Given the description of an element on the screen output the (x, y) to click on. 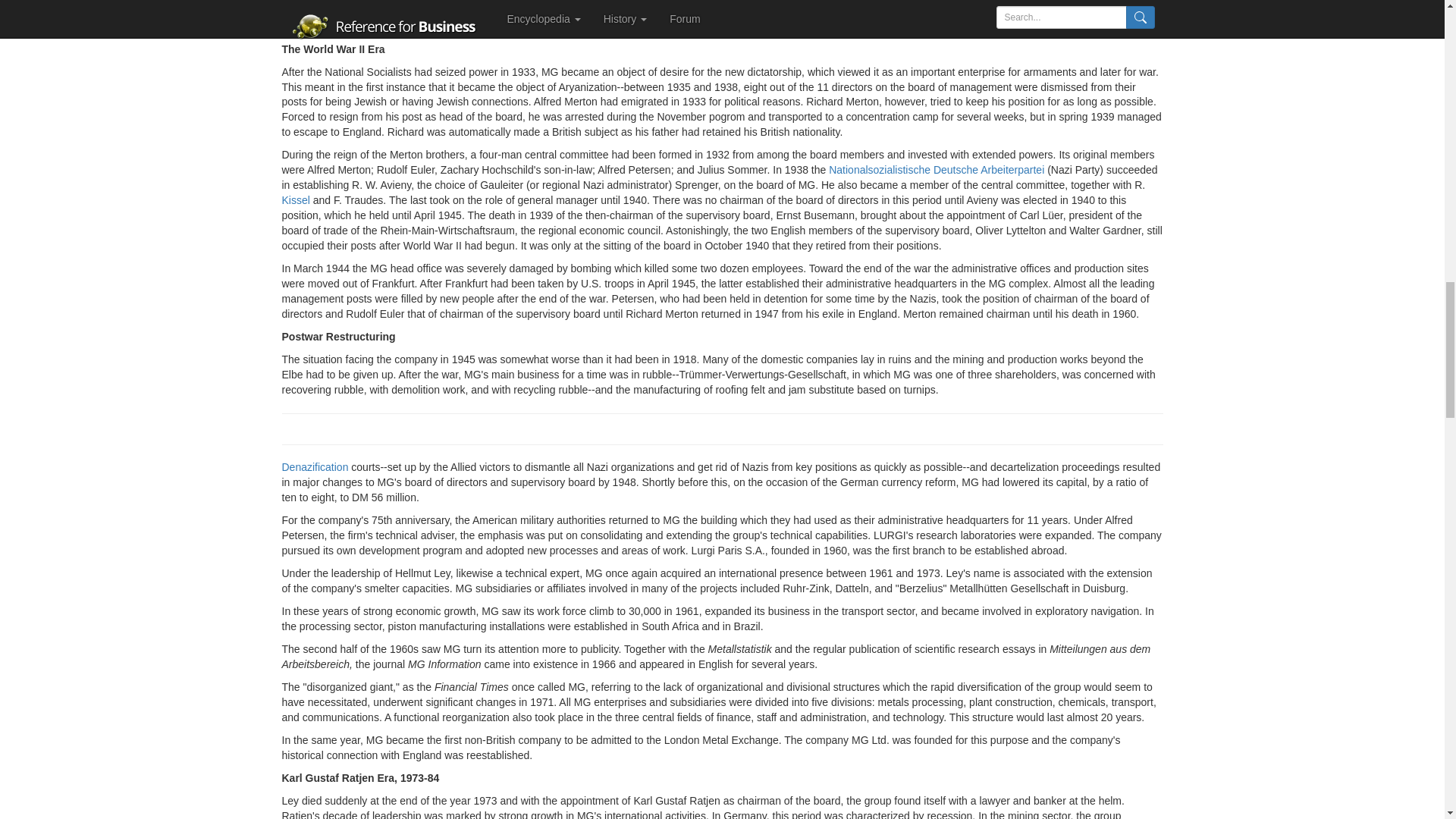
Denazification (315, 467)
Kissel (296, 200)
View 'kissel' definition from Wikipedia (296, 200)
Nationalsozialistische Deutsche Arbeiterpartei (935, 169)
View 'denazification' definition from Wikipedia (315, 467)
